Given the description of an element on the screen output the (x, y) to click on. 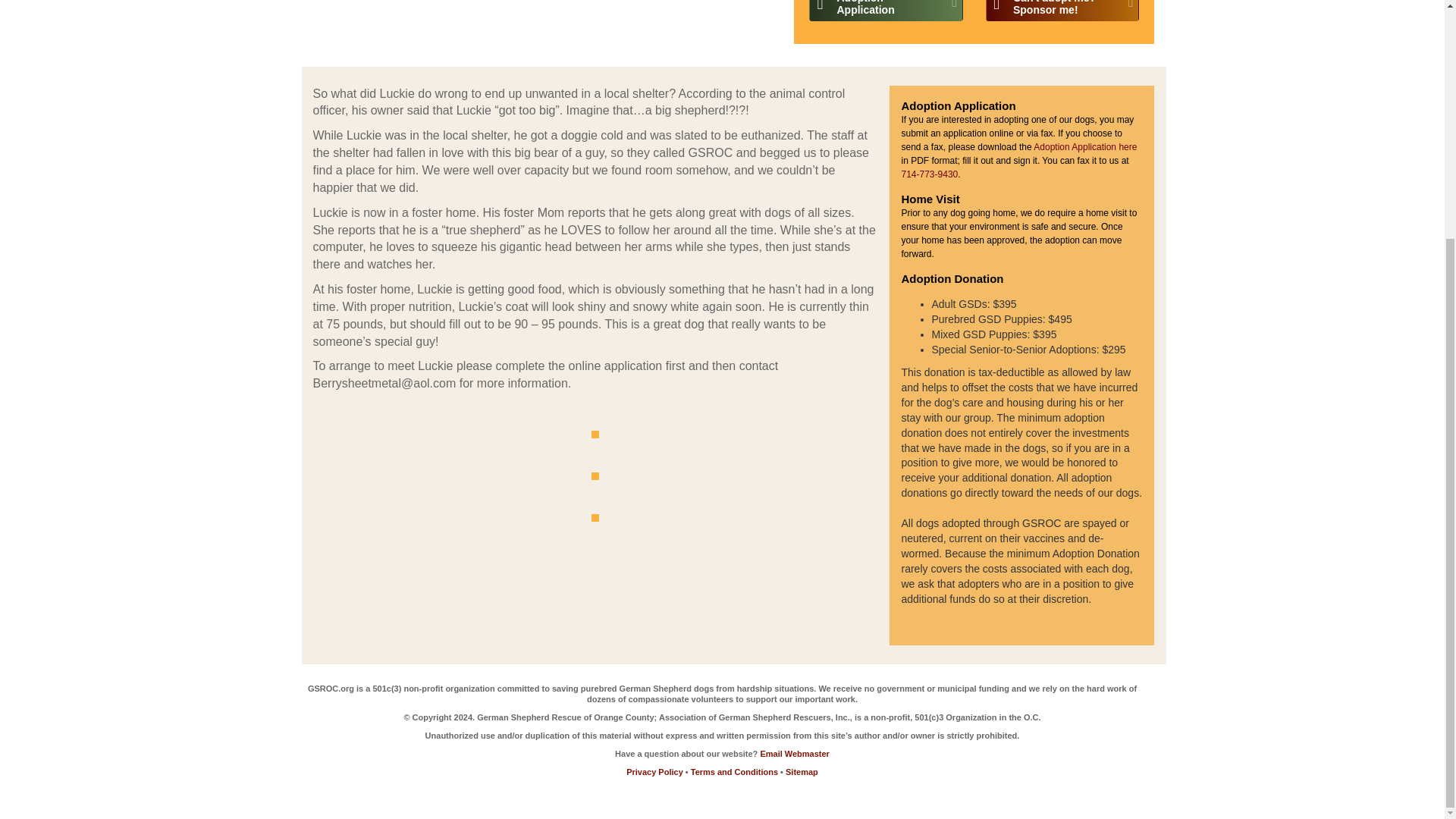
Terms and Conditions (733, 771)
Adoption Application here (1085, 146)
Privacy Policy (655, 771)
Sitemap (802, 771)
714-773-9430 (929, 173)
Email Webmaster (794, 753)
